Given the description of an element on the screen output the (x, y) to click on. 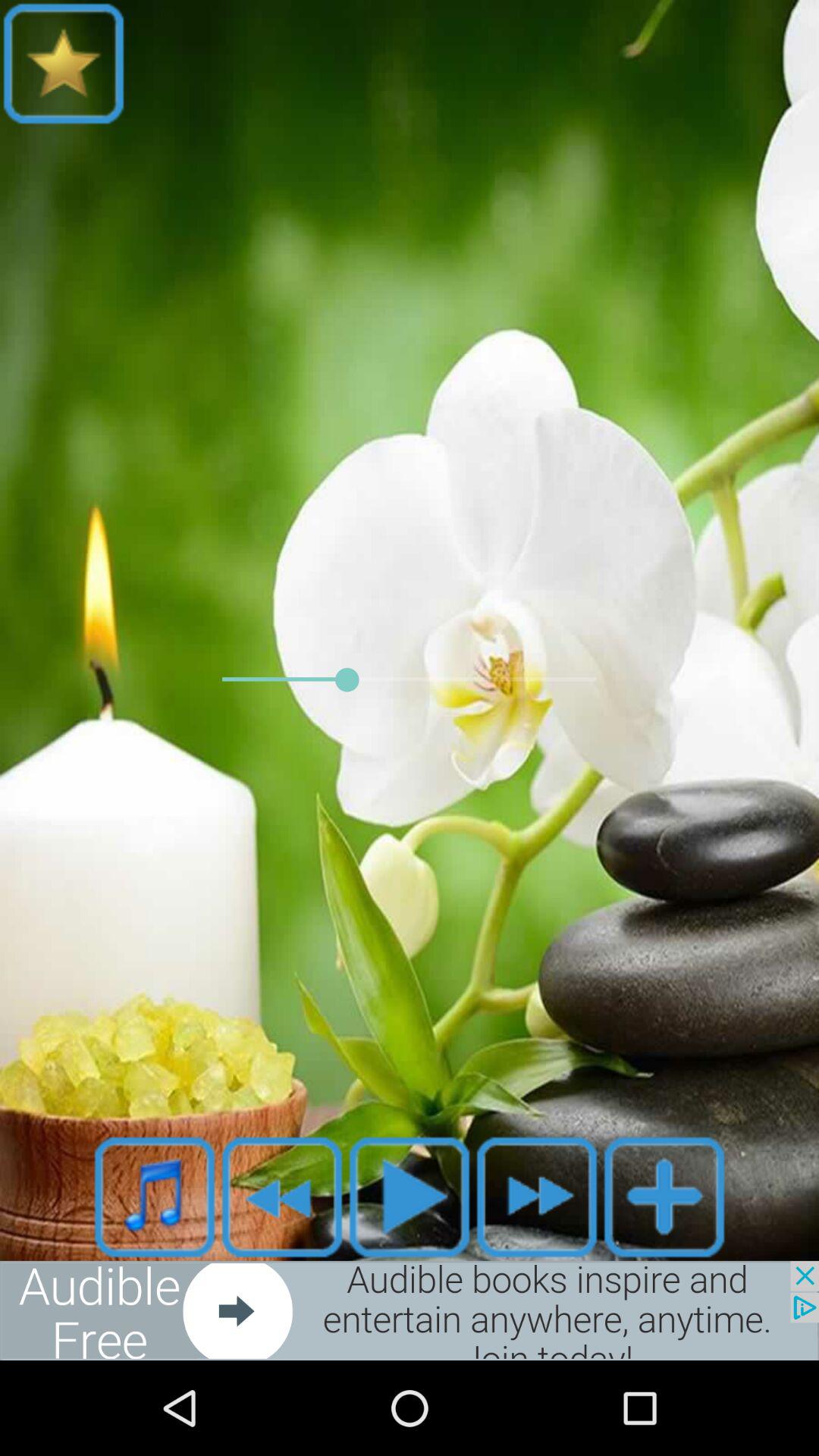
music button (154, 1196)
